Given the description of an element on the screen output the (x, y) to click on. 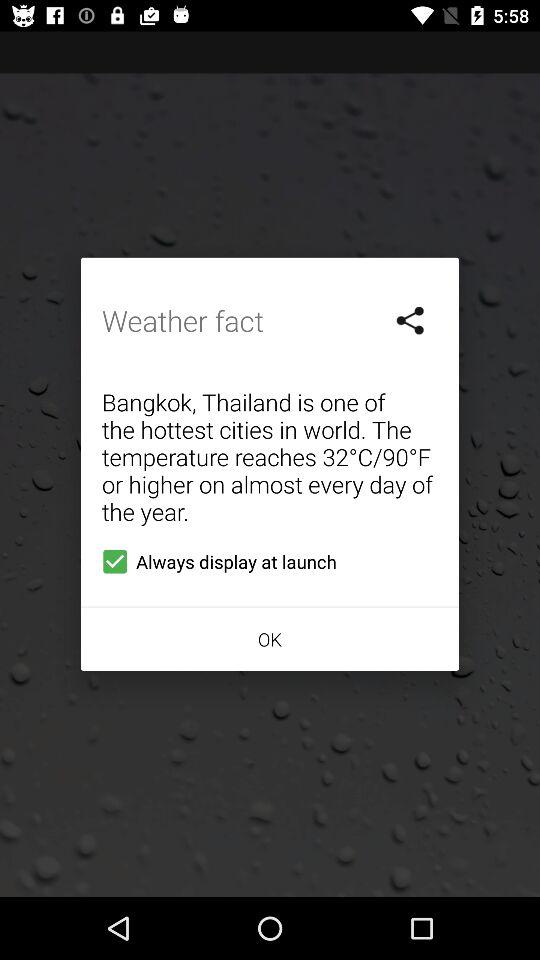
press icon next to the weather fact (411, 320)
